Given the description of an element on the screen output the (x, y) to click on. 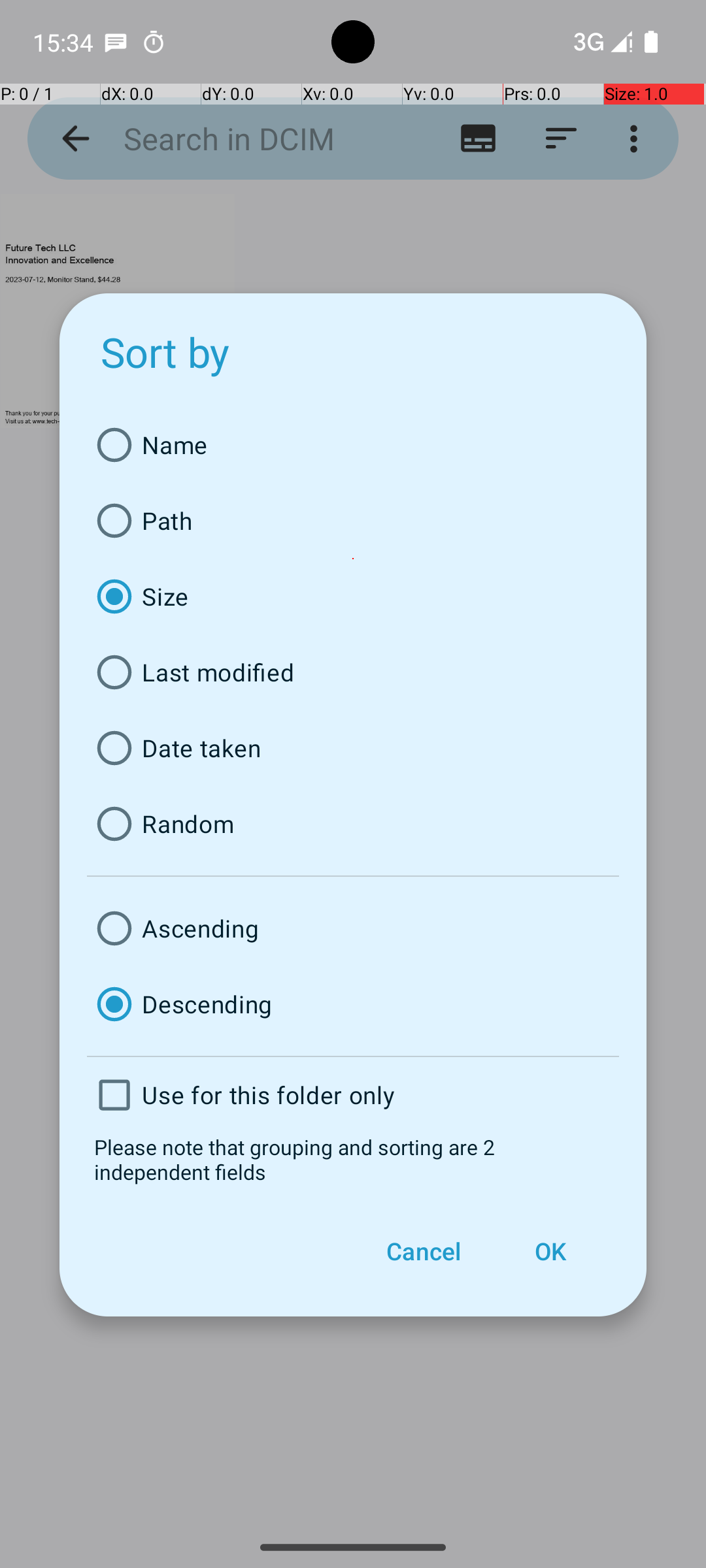
Use for this folder only Element type: android.widget.CheckBox (352, 1094)
Please note that grouping and sorting are 2 independent fields Element type: android.widget.TextView (352, 1158)
Path Element type: android.widget.RadioButton (352, 520)
Last modified Element type: android.widget.RadioButton (352, 672)
Date taken Element type: android.widget.RadioButton (352, 747)
Random Element type: android.widget.RadioButton (352, 823)
